Given the description of an element on the screen output the (x, y) to click on. 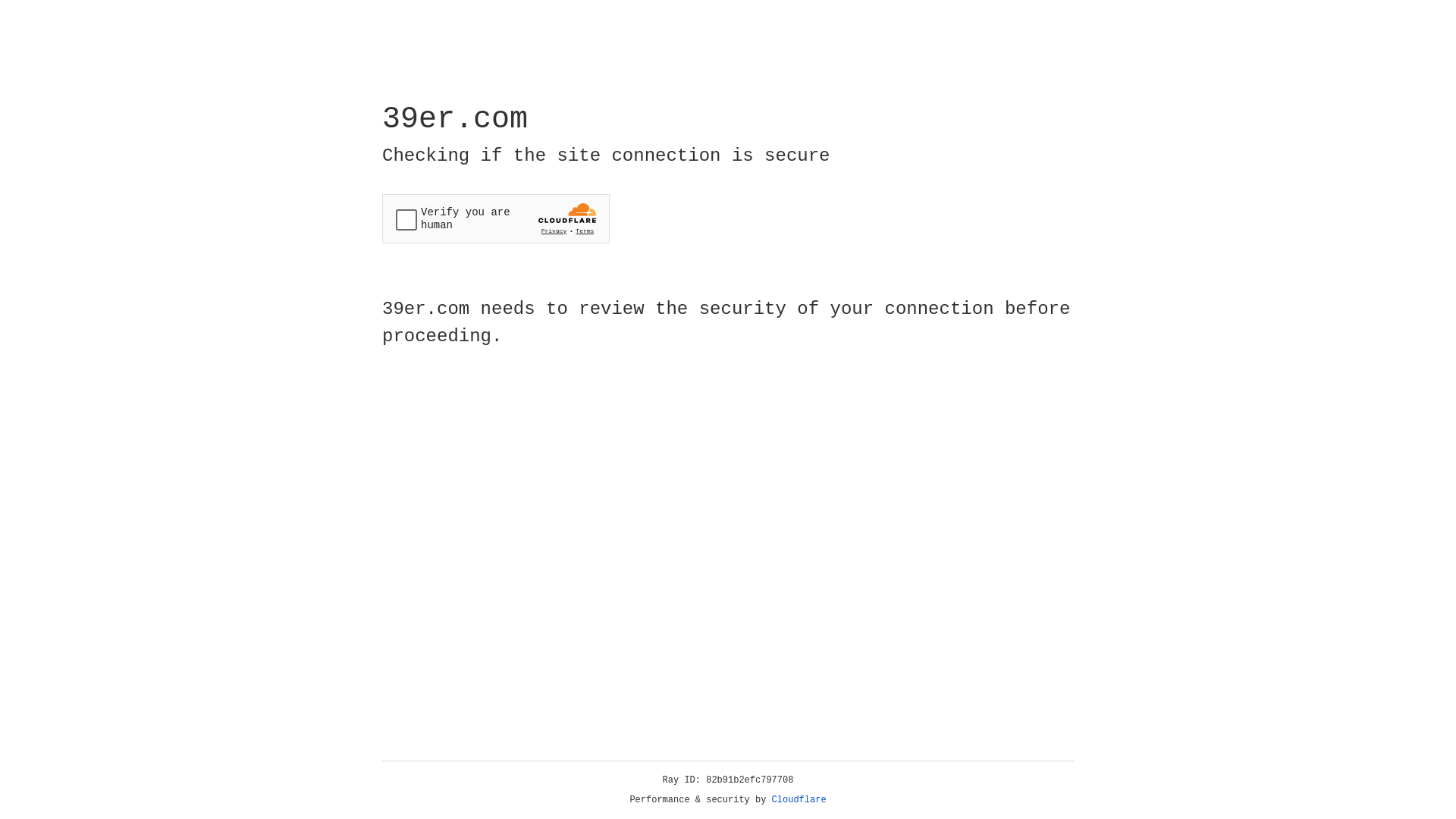
Cloudflare Element type: text (798, 799)
Widget containing a Cloudflare security challenge Element type: hover (495, 218)
